Given the description of an element on the screen output the (x, y) to click on. 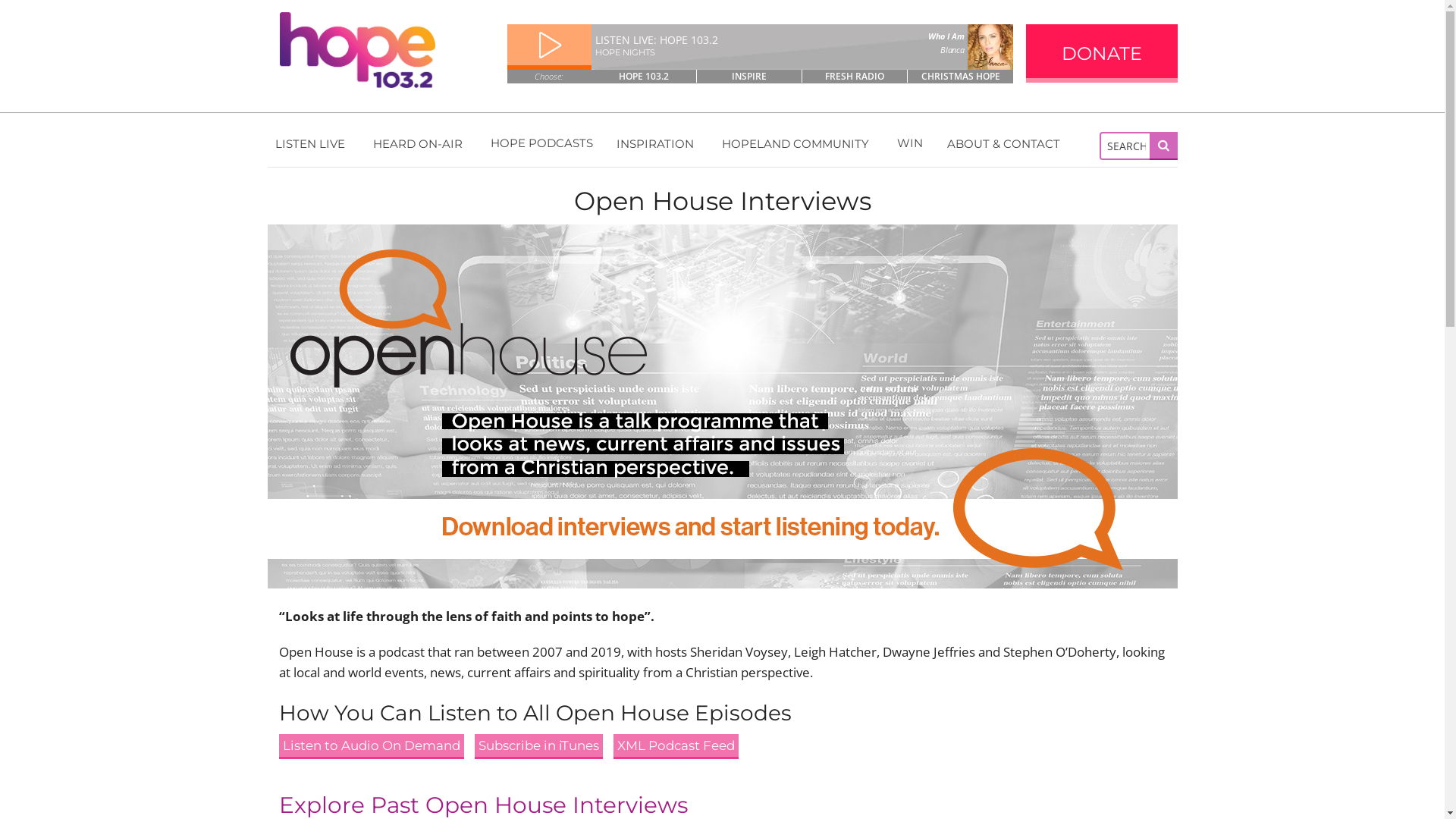
HOPE PODCASTS Element type: text (541, 143)
HOPELAND COMMUNITY Element type: text (797, 143)
FRESH RADIO Element type: text (854, 75)
LISTEN LIVE Element type: text (311, 143)
DONATE Element type: text (1100, 53)
Listen to Audio On Demand Element type: text (371, 746)
CHRISTMAS HOPE Element type: text (960, 75)
INSPIRATION Element type: text (657, 143)
WIN Element type: text (909, 143)
XML Podcast Feed Element type: text (674, 746)
ABOUT & CONTACT Element type: text (1005, 143)
HOPE 103.2 Element type: text (643, 75)
INSPIRE Element type: text (749, 75)
Subscribe in iTunes Element type: text (538, 746)
HEARD ON-AIR Element type: text (419, 143)
